Given the description of an element on the screen output the (x, y) to click on. 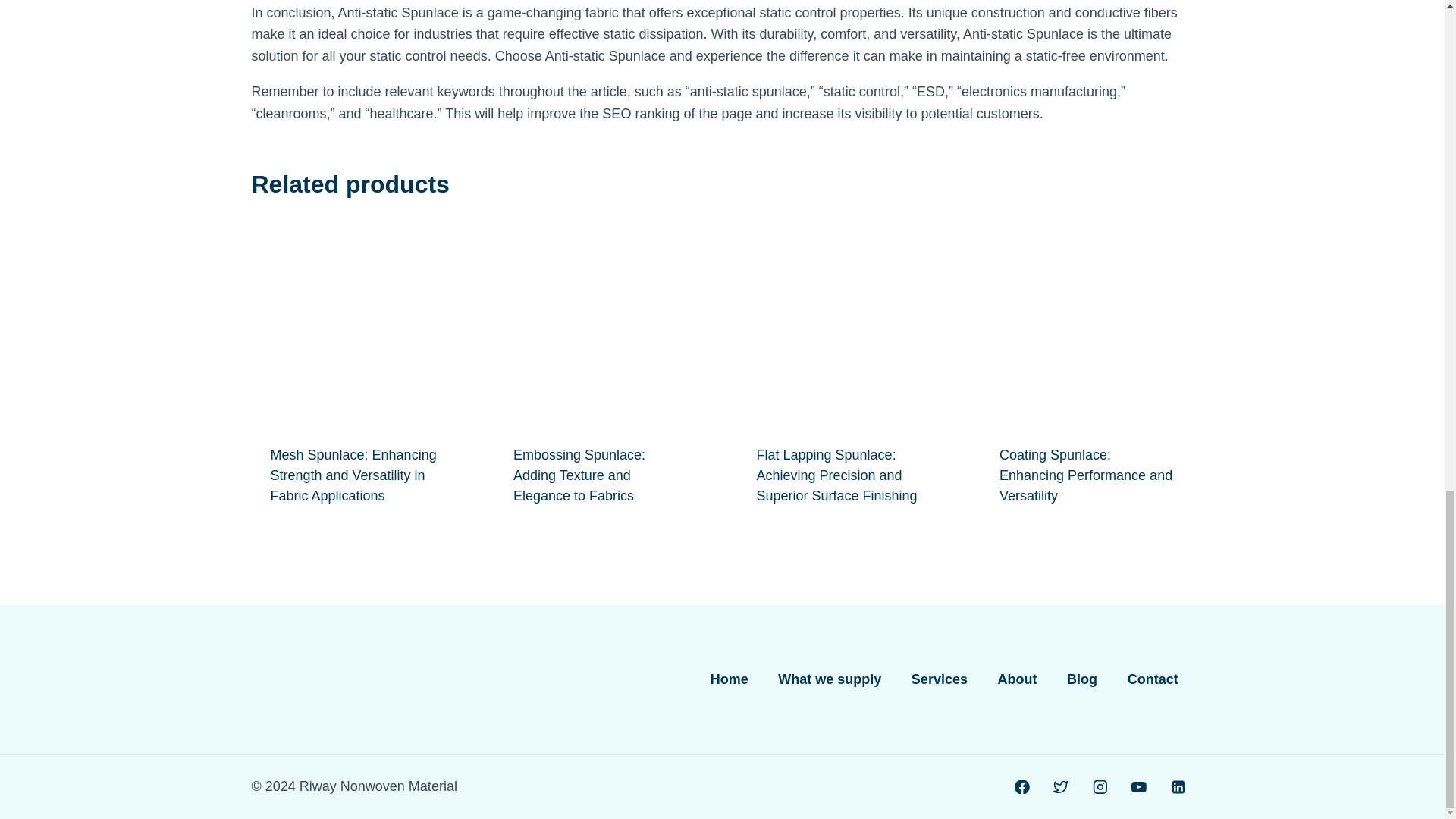
Embossing Spunlace: Adding Texture and Elegance to Fabrics (579, 475)
Coating Spunlace: Enhancing Performance and Versatility (1085, 475)
